Given the description of an element on the screen output the (x, y) to click on. 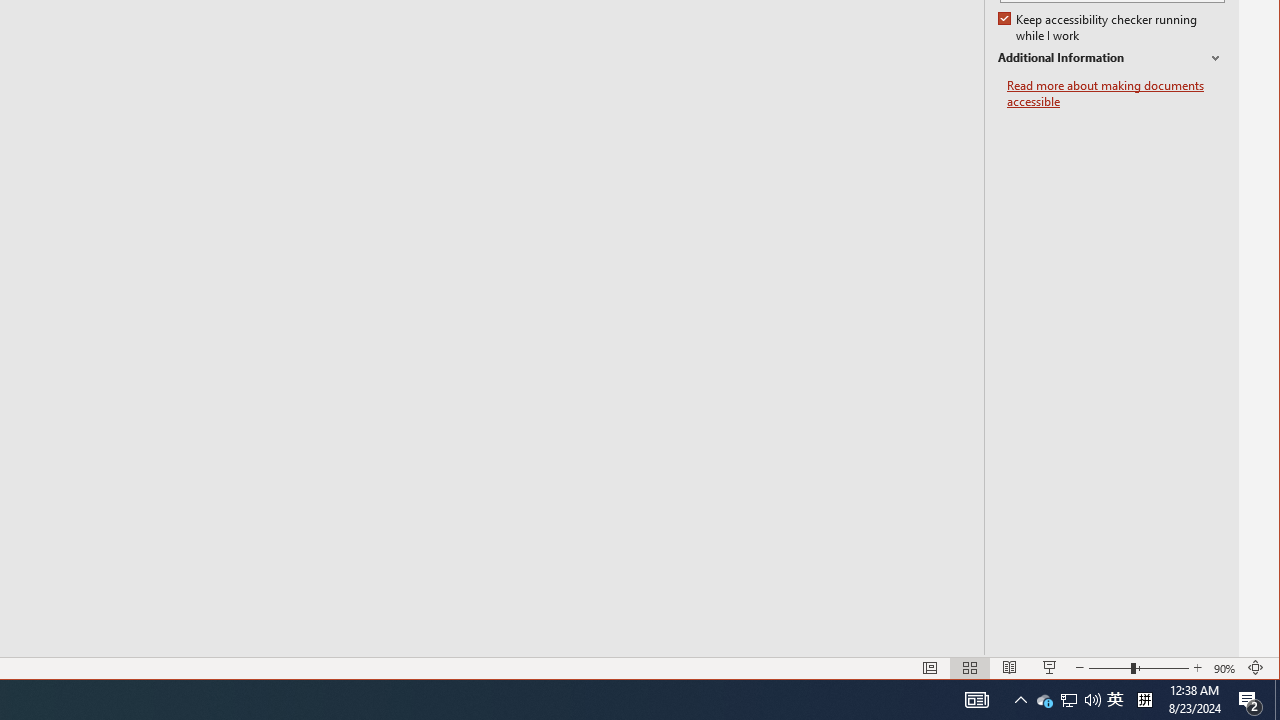
Additional Information (1044, 699)
Zoom 90% (1111, 57)
Keep accessibility checker running while I work (1225, 668)
Read more about making documents accessible (1099, 28)
Action Center, 2 new notifications (1115, 93)
